Given the description of an element on the screen output the (x, y) to click on. 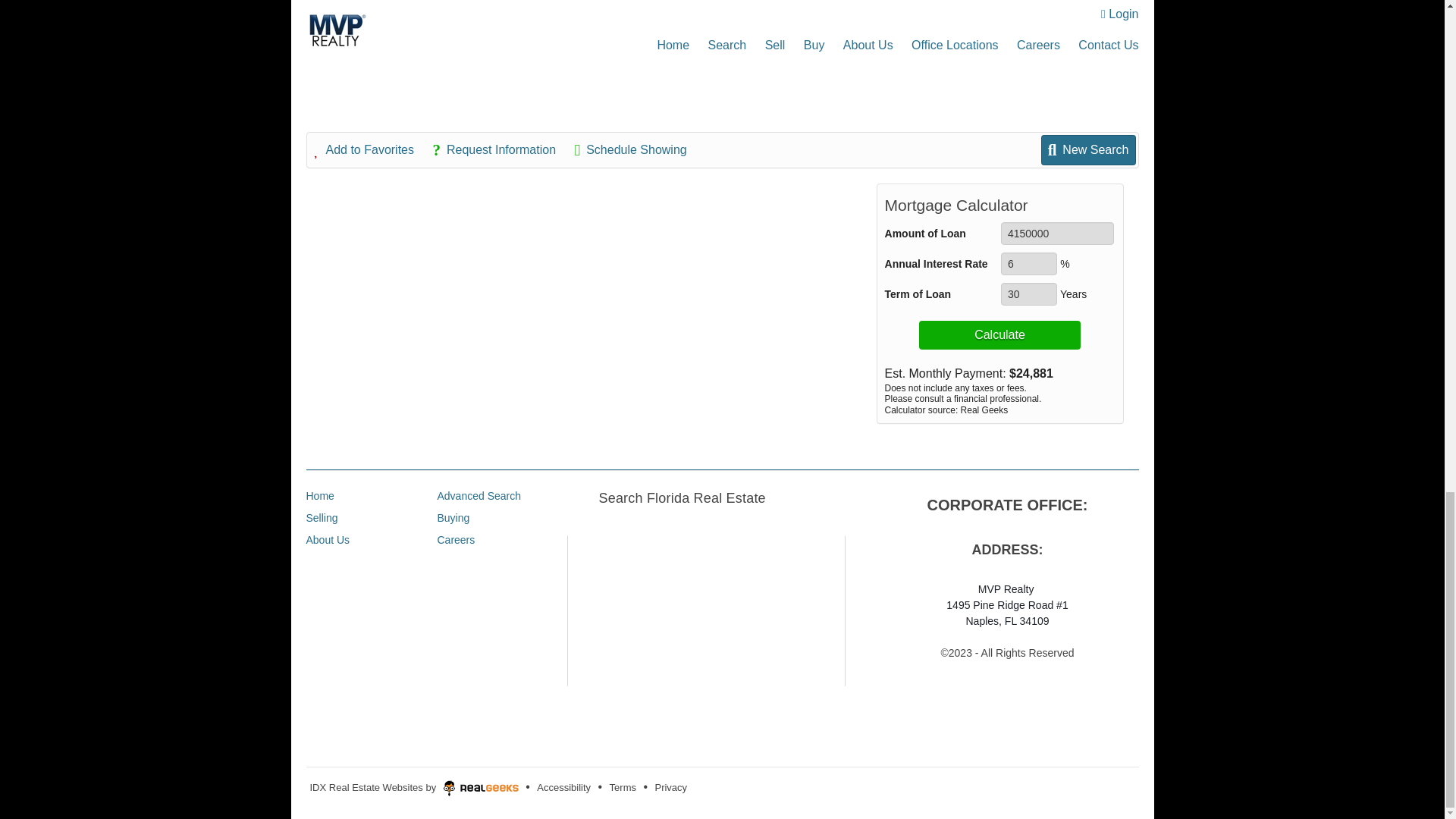
4150000 (1057, 232)
6 (1029, 263)
30 (1029, 293)
